Given the description of an element on the screen output the (x, y) to click on. 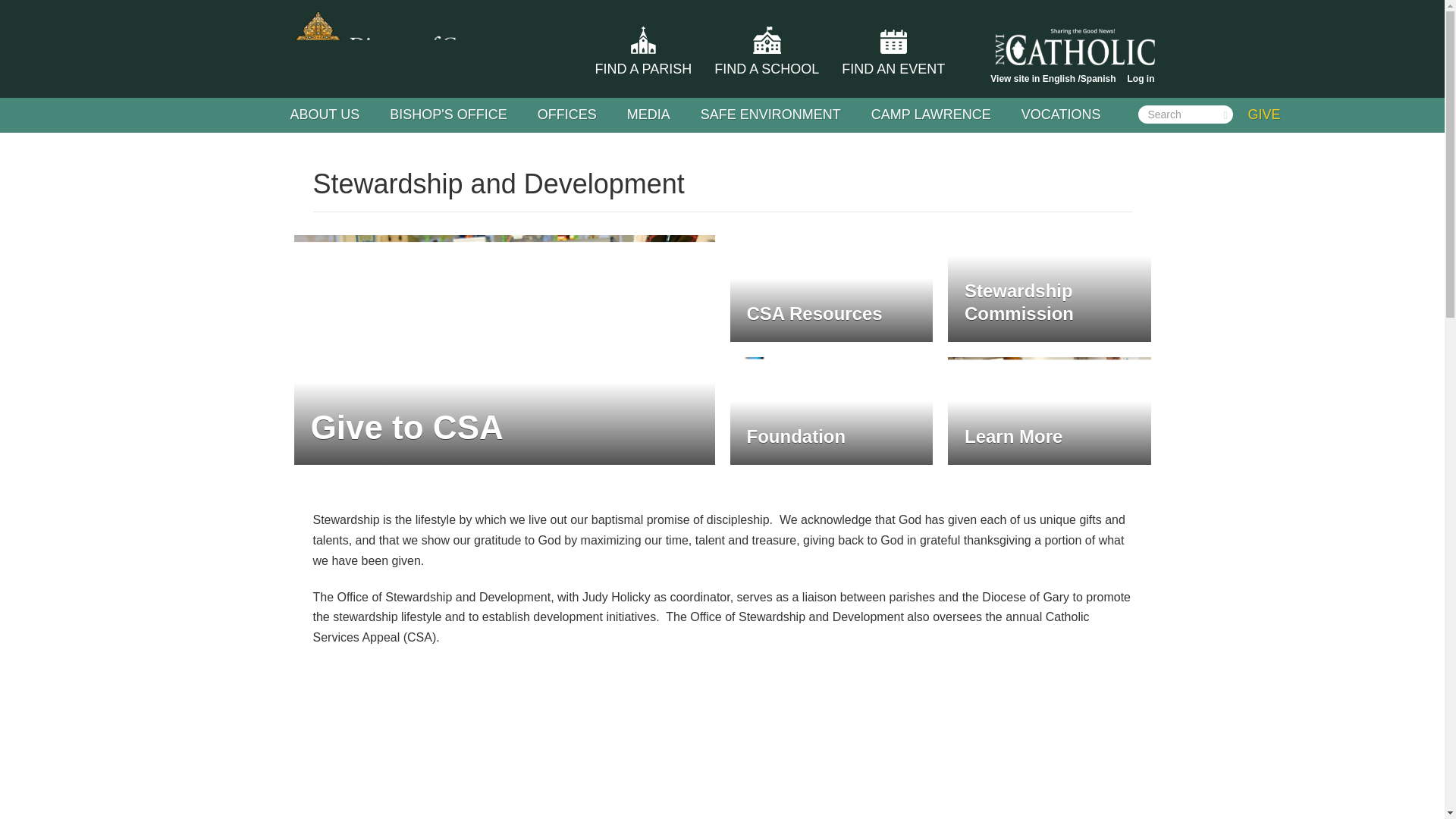
ABOUT US (324, 114)
MEDIA (648, 114)
BISHOP'S OFFICE (448, 114)
VOCATIONS (1061, 114)
OFFICES (566, 114)
YouTube video player (721, 741)
FIND A PARISH (644, 68)
Spanish (1098, 78)
FIND A SCHOOL (766, 68)
